Given the description of an element on the screen output the (x, y) to click on. 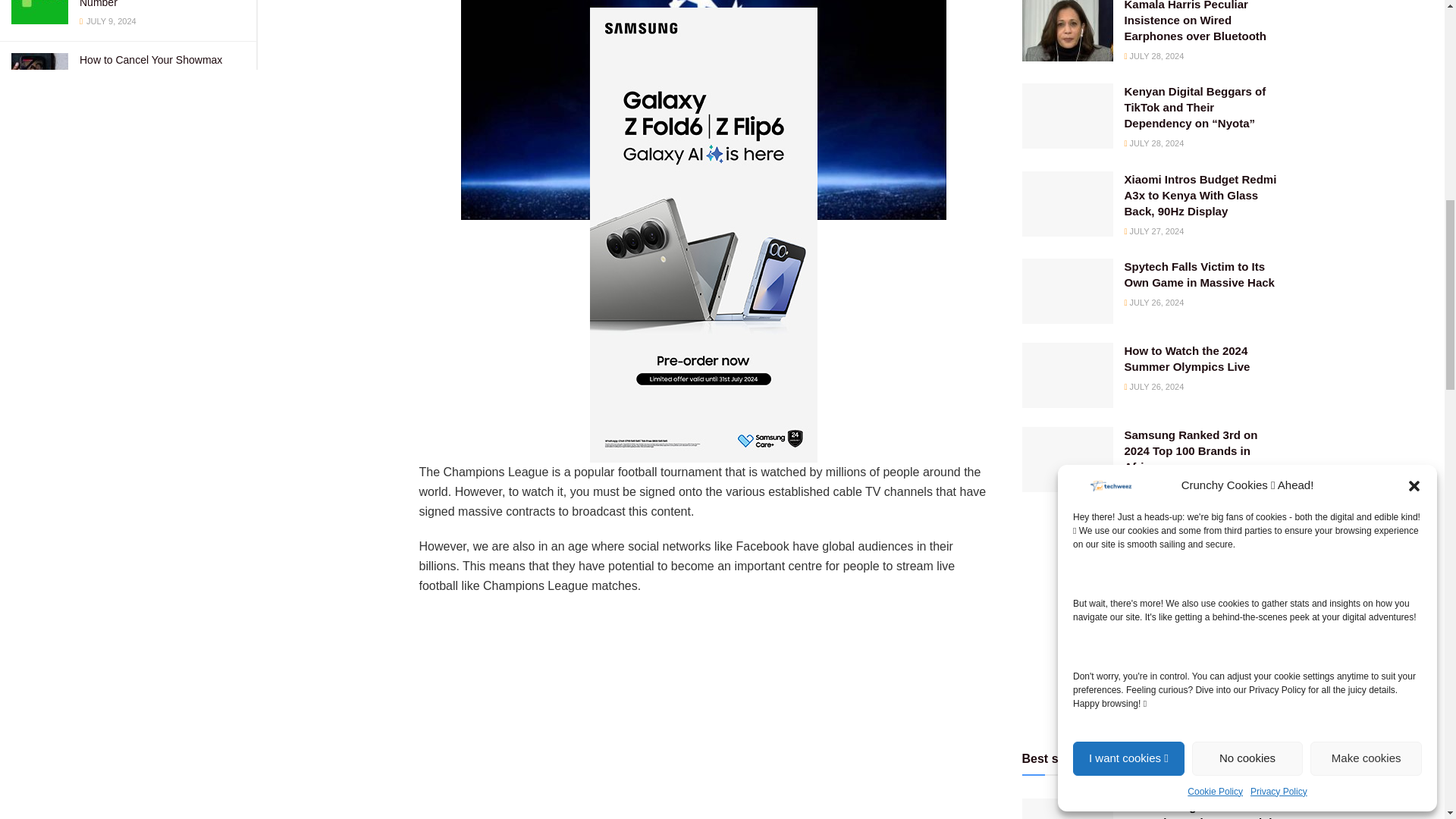
How to Reverse M-Pesa Transactions Sent to the Wrong Number (154, 3)
